Given the description of an element on the screen output the (x, y) to click on. 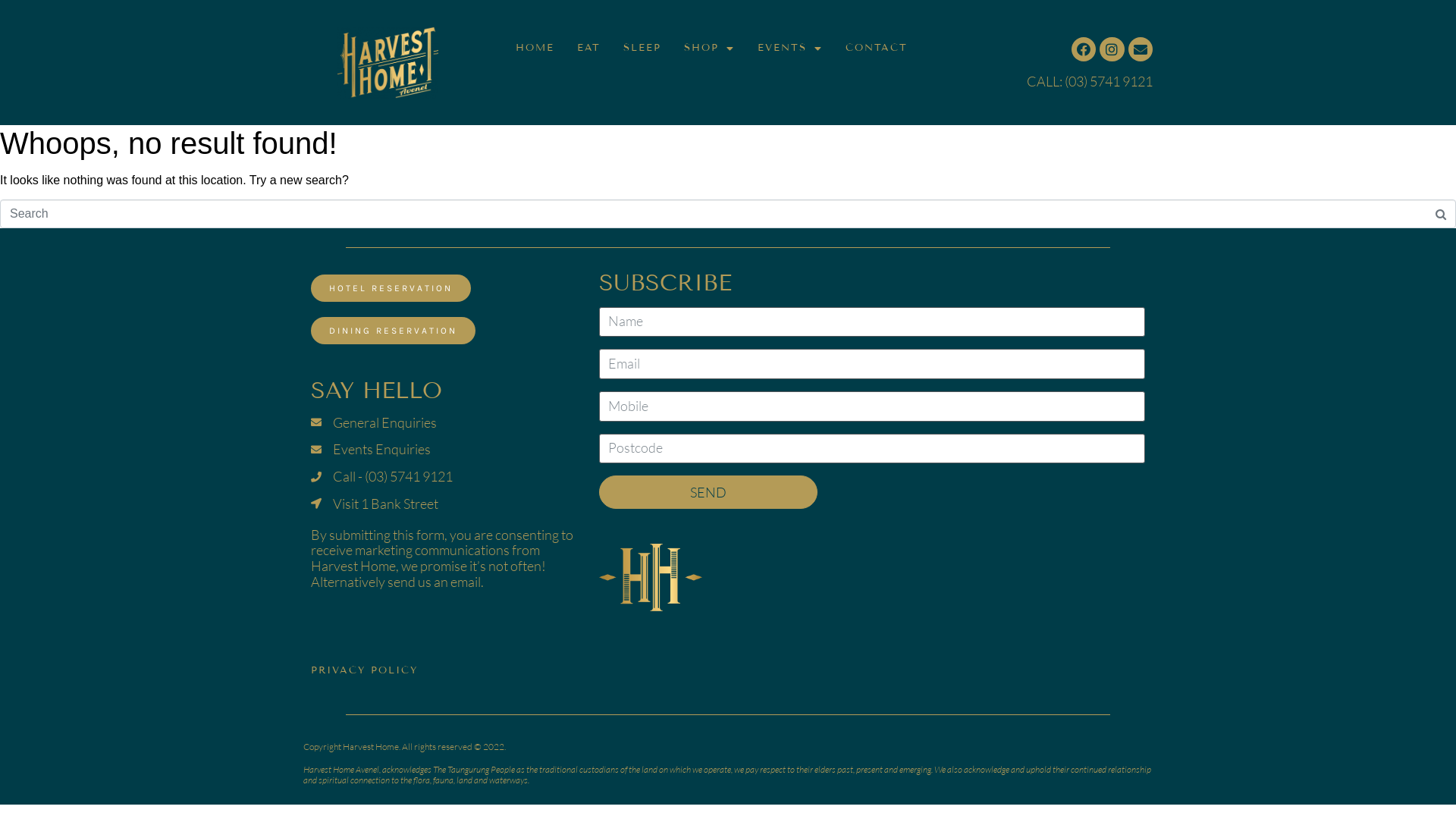
Call - (03) 5741 9121 Element type: text (443, 476)
SLEEP Element type: text (641, 47)
DINING RESERVATION Element type: text (392, 330)
CONTACT Element type: text (876, 47)
General Enquiries Element type: text (443, 422)
EVENTS Element type: text (790, 47)
HOME Element type: text (534, 47)
Events Enquiries Element type: text (443, 449)
PRIVACY POLICY Element type: text (363, 670)
SEND Element type: text (708, 491)
HOTEL RESERVATION Element type: text (390, 287)
Visit 1 Bank Street Element type: text (443, 503)
SHOP Element type: text (709, 47)
EAT Element type: text (588, 47)
